Given the description of an element on the screen output the (x, y) to click on. 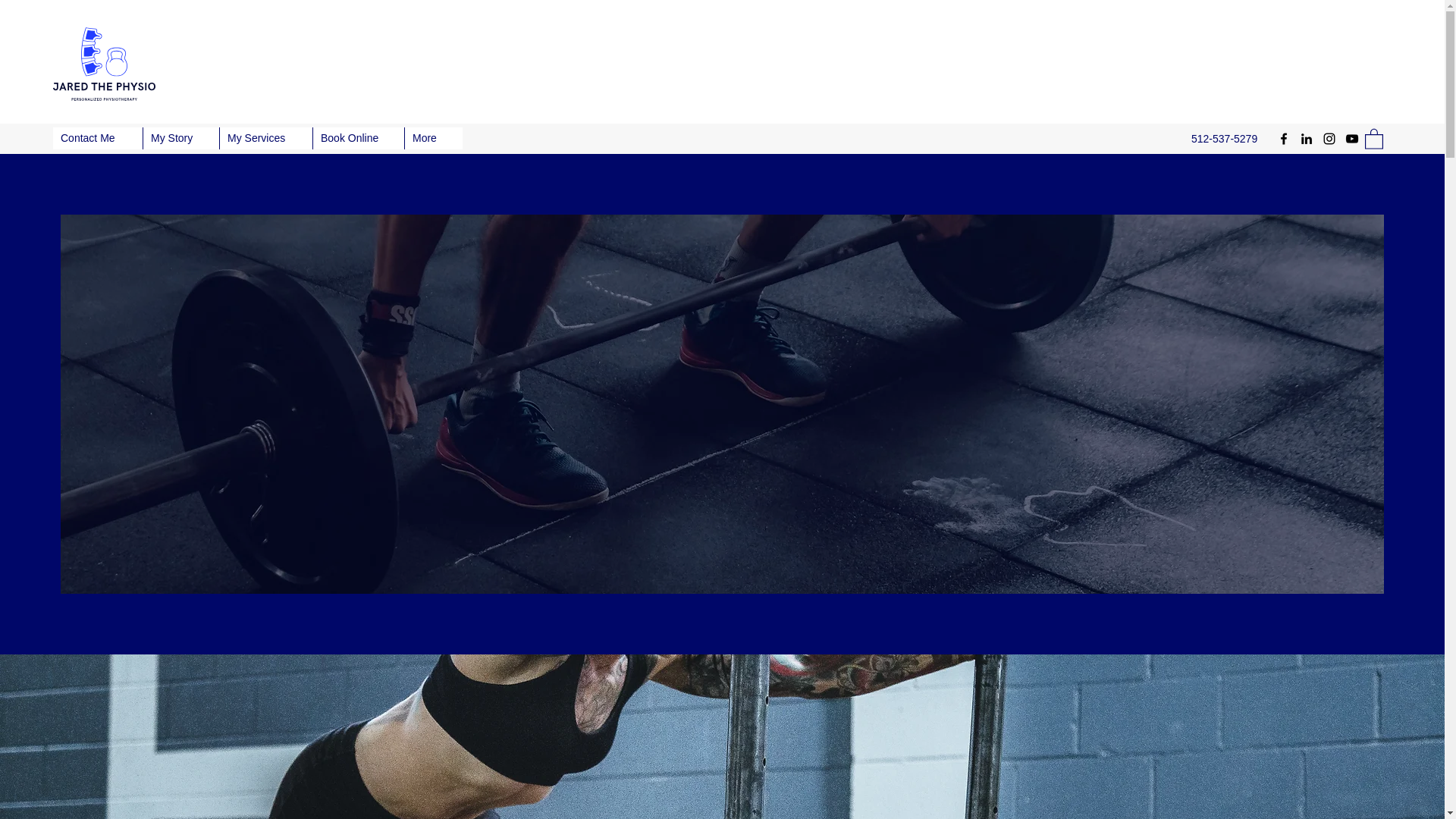
My Story (180, 138)
My Services (266, 138)
Book Online (358, 138)
Contact Me (97, 138)
